Given the description of an element on the screen output the (x, y) to click on. 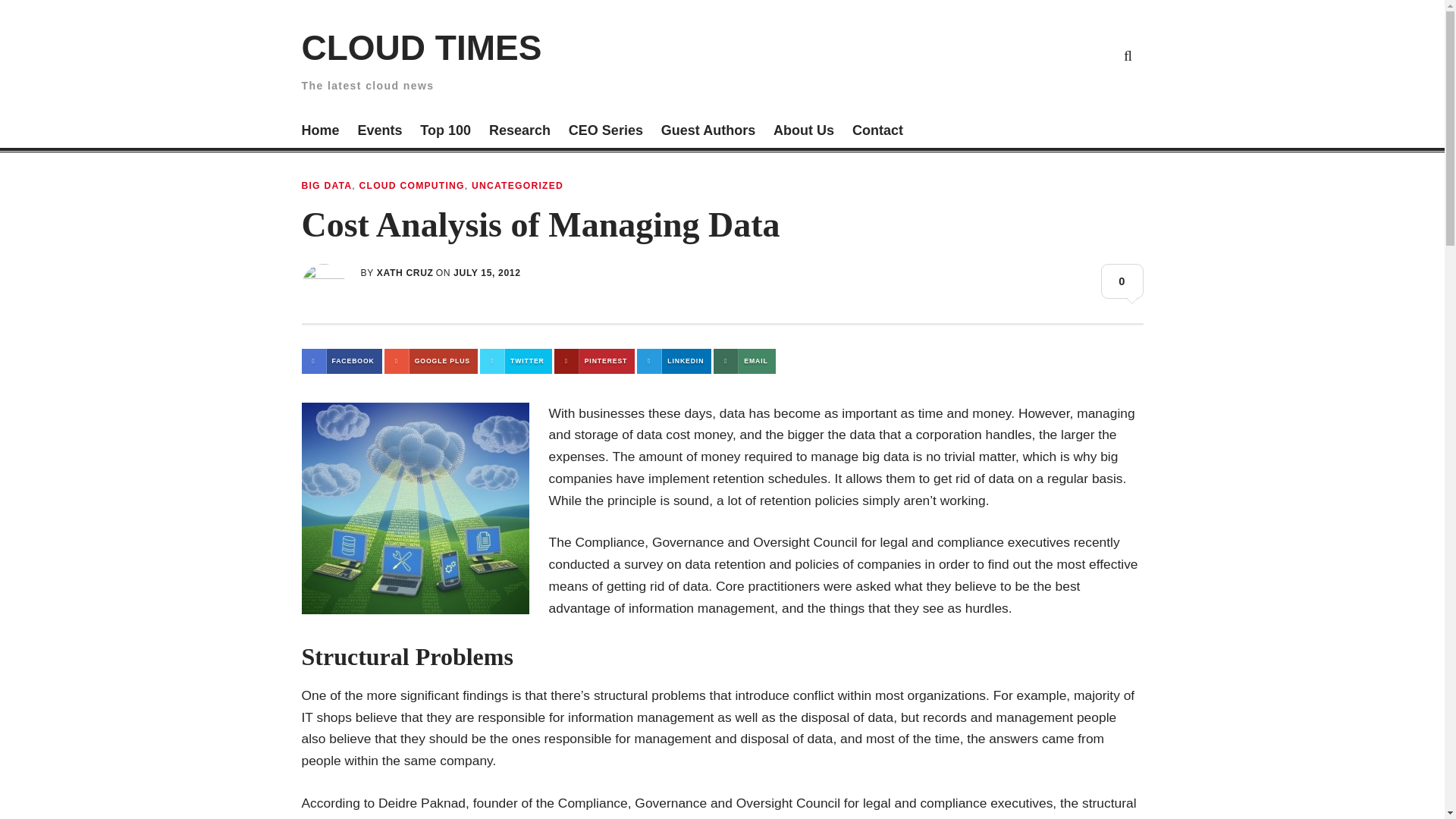
Contact (876, 132)
CLOUD TIMES (421, 47)
LINKEDIN (674, 360)
UNCATEGORIZED (517, 185)
Home (320, 132)
Top 100 (445, 132)
Cloud Security (1056, 54)
CEO Series (606, 132)
PINTEREST (594, 360)
White Paper (1092, 54)
Cloud Providers (1021, 54)
Cloud Storage (951, 54)
CLOUD COMPUTING (411, 185)
Research (519, 132)
